Given the description of an element on the screen output the (x, y) to click on. 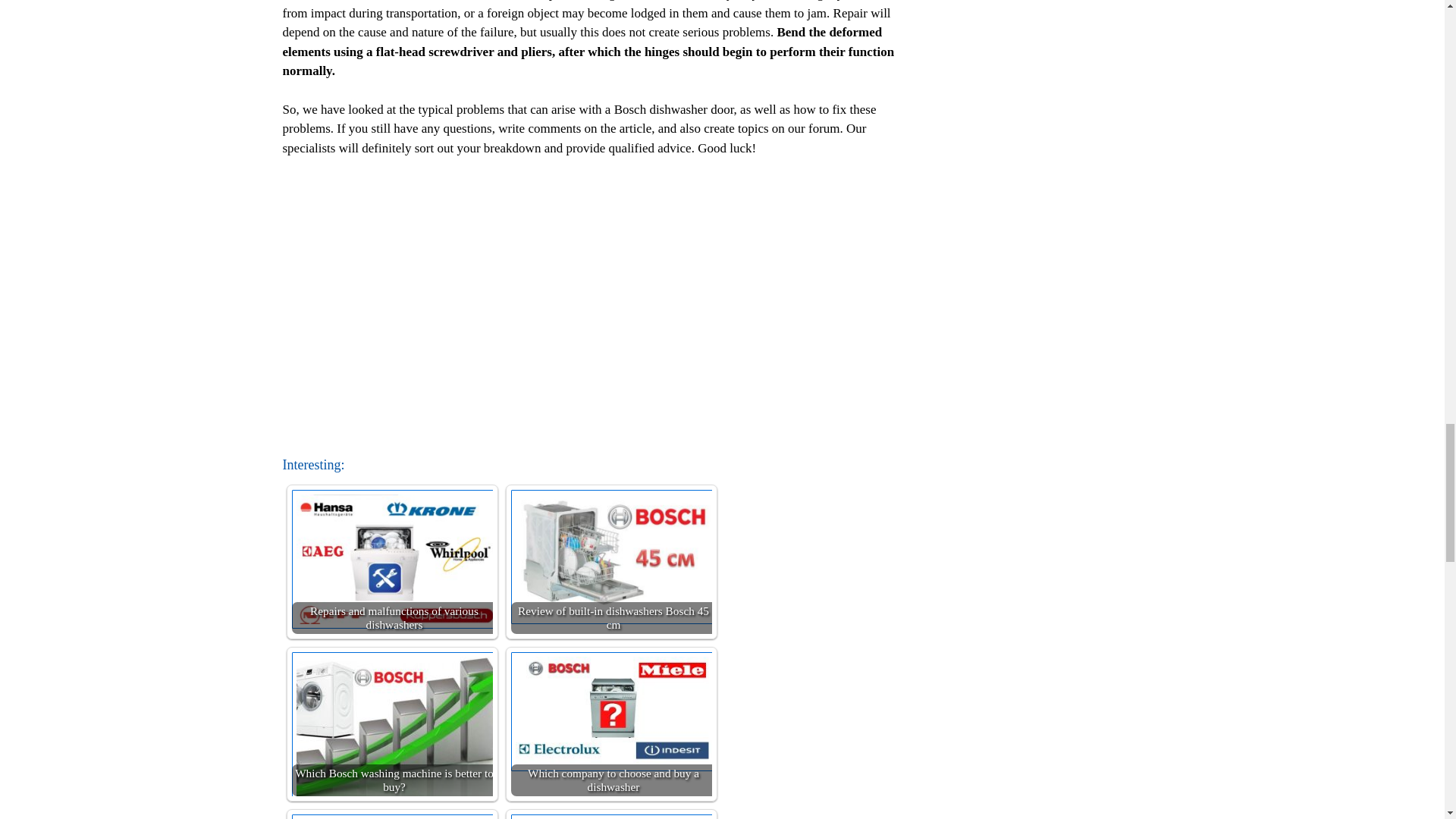
Which Bosch washing machine is better to buy? (391, 723)
Dishwasher door won't stay open (615, 816)
Which company to choose and buy a dishwasher (611, 723)
Dishwasher rating 45 cm (395, 816)
Review of built-in dishwashers Bosch 45 cm (615, 556)
Which company to choose and buy a dishwasher (615, 711)
Which Bosch washing machine is better to buy? (395, 728)
Dishwasher rating 45 cm (391, 816)
Repairs and malfunctions of various dishwashers (391, 561)
Repairs and malfunctions of various dishwashers (395, 558)
Review of built-in dishwashers Bosch 45 cm (611, 561)
Dishwasher door won't stay open when open... (611, 816)
